Given the description of an element on the screen output the (x, y) to click on. 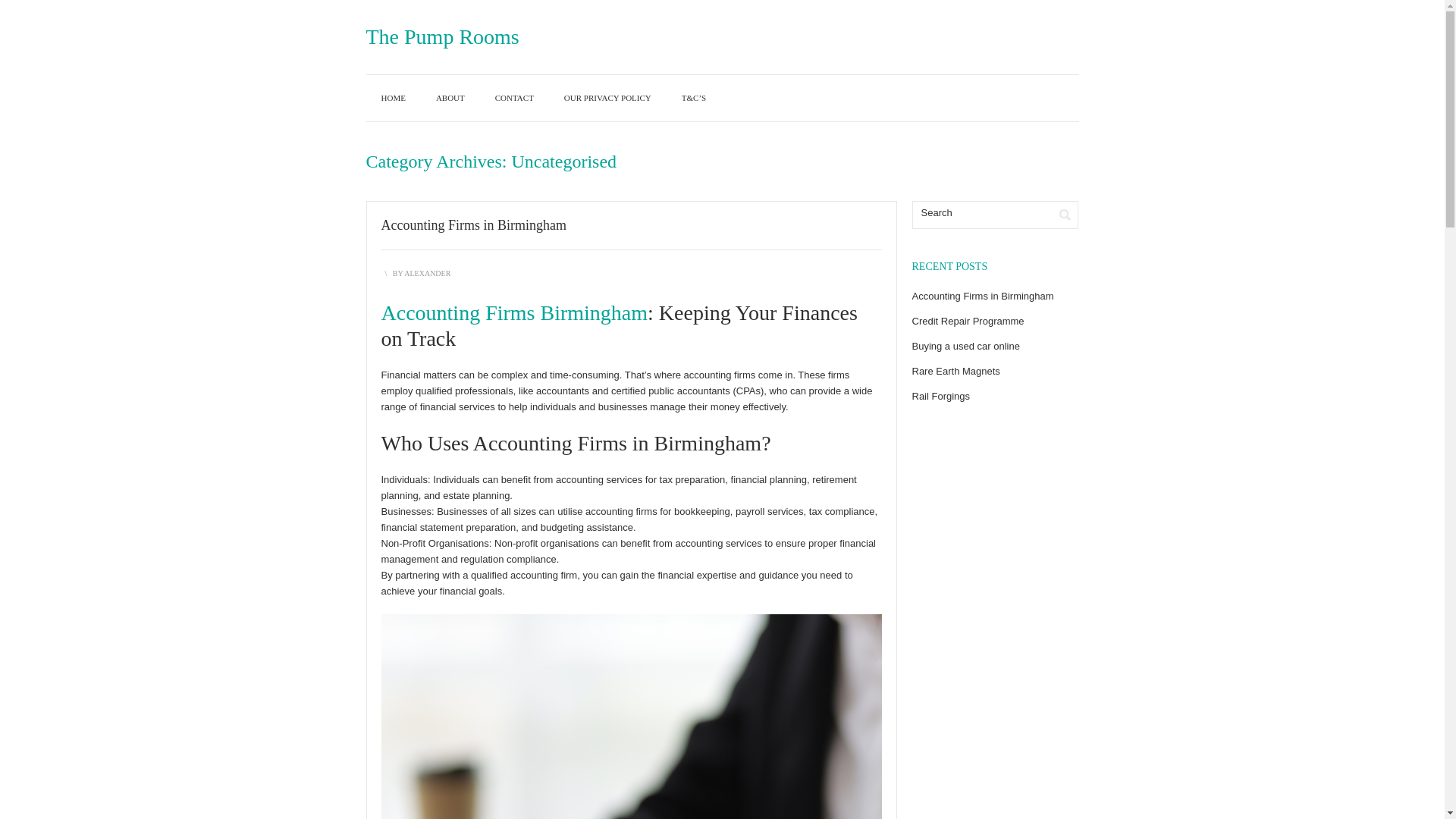
Permalink to Accounting Firms in Birmingham (473, 224)
by Alexander (426, 273)
Credit Repair Programme (967, 320)
The Pump Rooms (441, 36)
Accounting Firms Birmingham (513, 312)
Search (980, 212)
Buying a used car online (965, 346)
Accounting Firms in Birmingham (473, 224)
Rare Earth Magnets (954, 370)
Rail Forgings (940, 396)
